Given the description of an element on the screen output the (x, y) to click on. 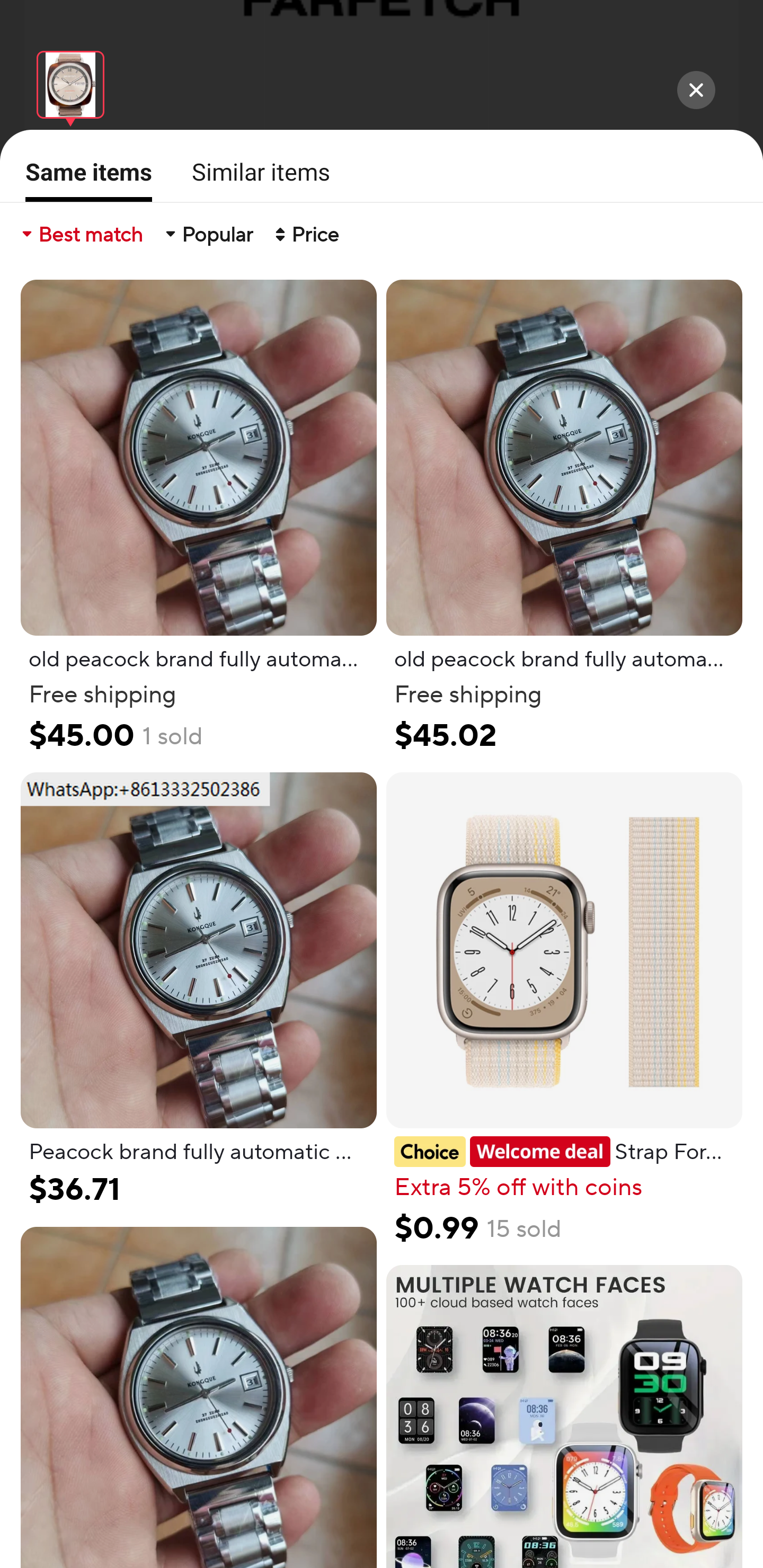
Same items (83, 178)
Similar items (255, 171)
Best match (81, 234)
Popular (207, 234)
Price (305, 234)
